Given the description of an element on the screen output the (x, y) to click on. 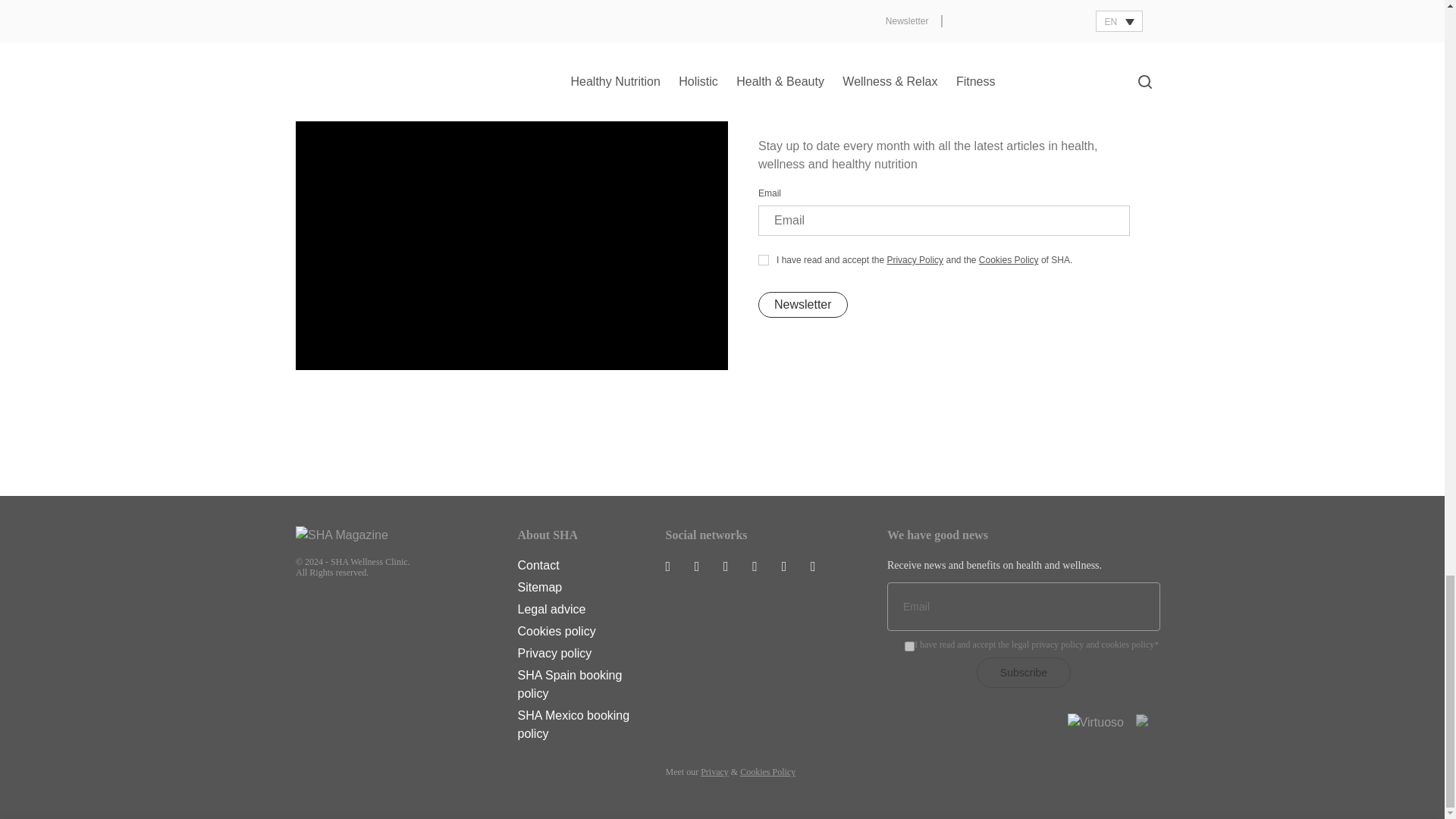
yes (909, 646)
